Given the description of an element on the screen output the (x, y) to click on. 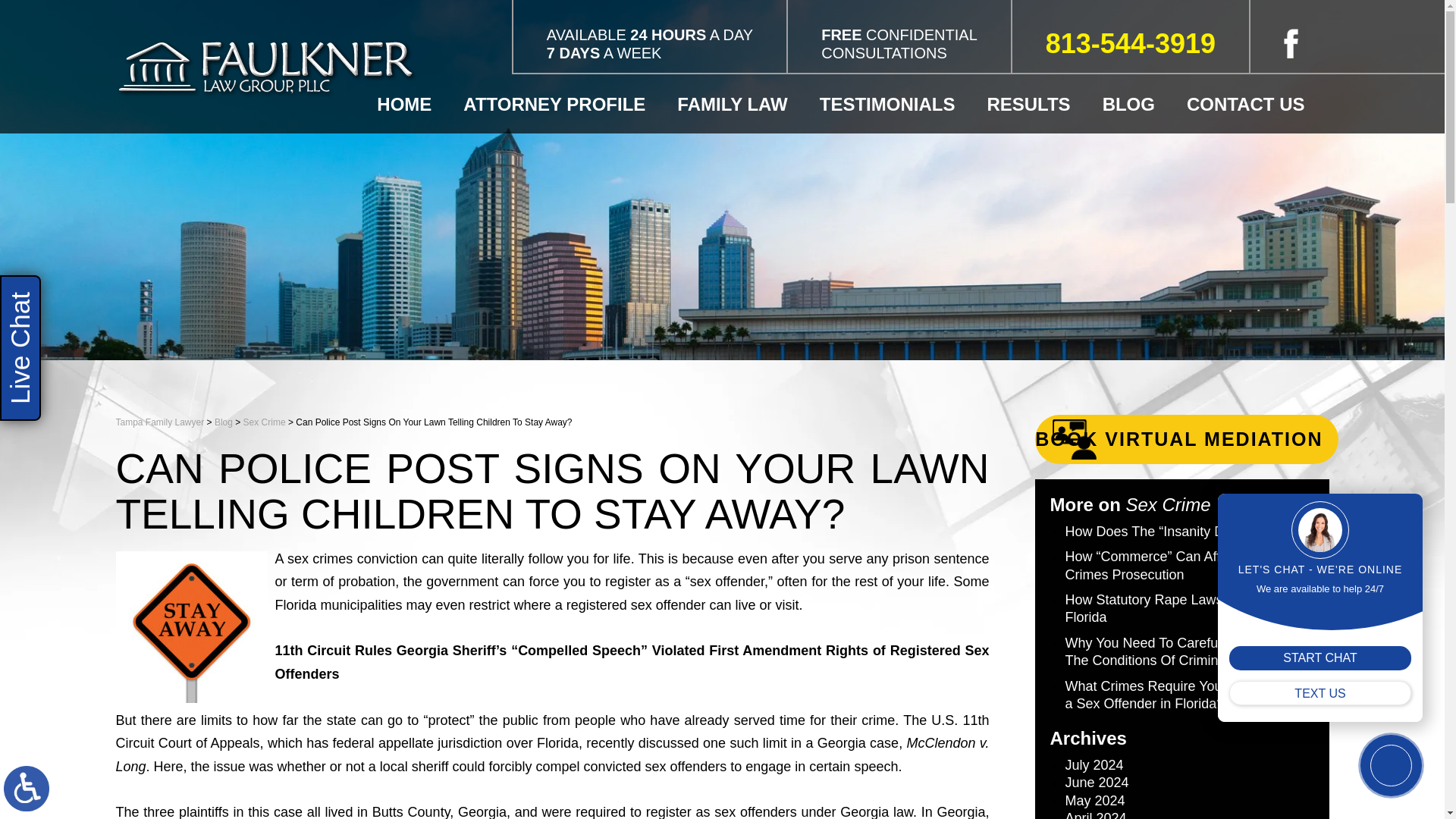
RESULTS (1036, 104)
ATTORNEY PROFILE (562, 104)
StayAway (190, 626)
FAMILY LAW (739, 104)
Switch to ADA Accessible Theme (26, 788)
FAMILY LAW (739, 104)
HOME (412, 104)
TESTIMONIALS (895, 104)
813-544-3919 (1130, 43)
